Given the description of an element on the screen output the (x, y) to click on. 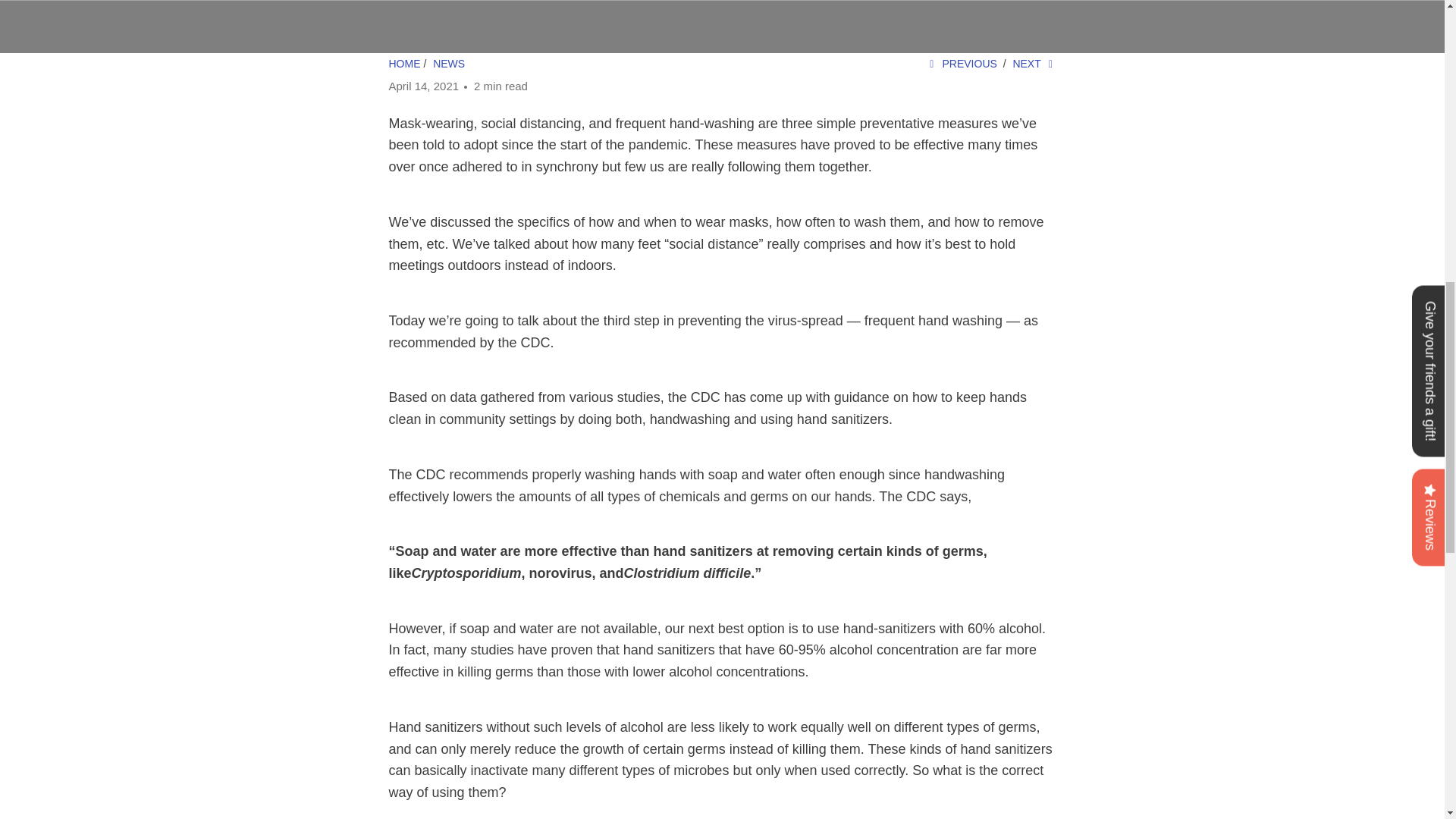
PREVIOUS (960, 63)
NEXT (1033, 63)
Space Mask (404, 63)
HOME (404, 63)
NEWS (448, 63)
News (448, 63)
